Given the description of an element on the screen output the (x, y) to click on. 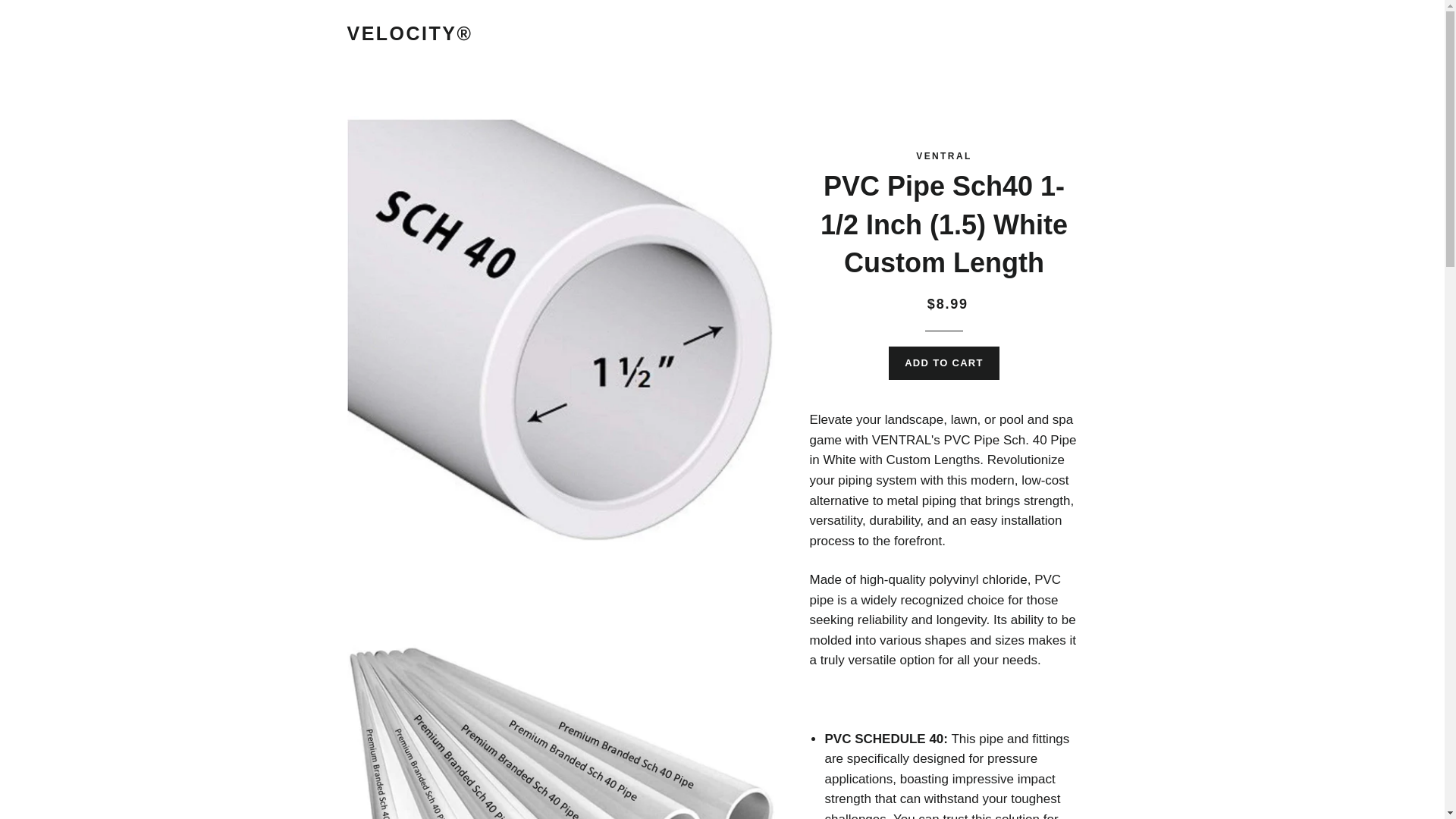
ADD TO CART (943, 363)
